Given the description of an element on the screen output the (x, y) to click on. 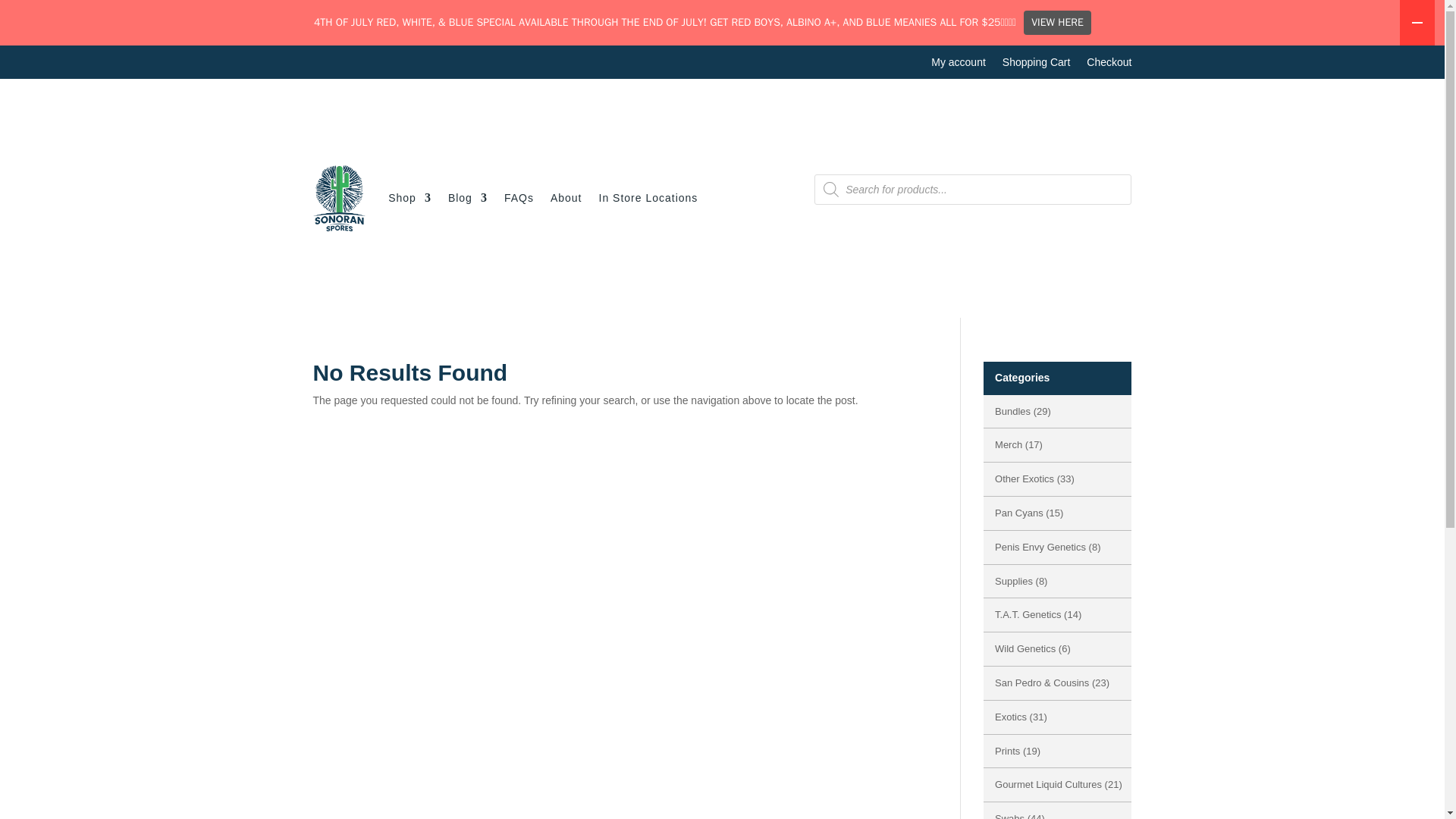
Checkout (1108, 64)
In Store Locations (648, 197)
My account (958, 64)
Shopping Cart (1036, 64)
